Given the description of an element on the screen output the (x, y) to click on. 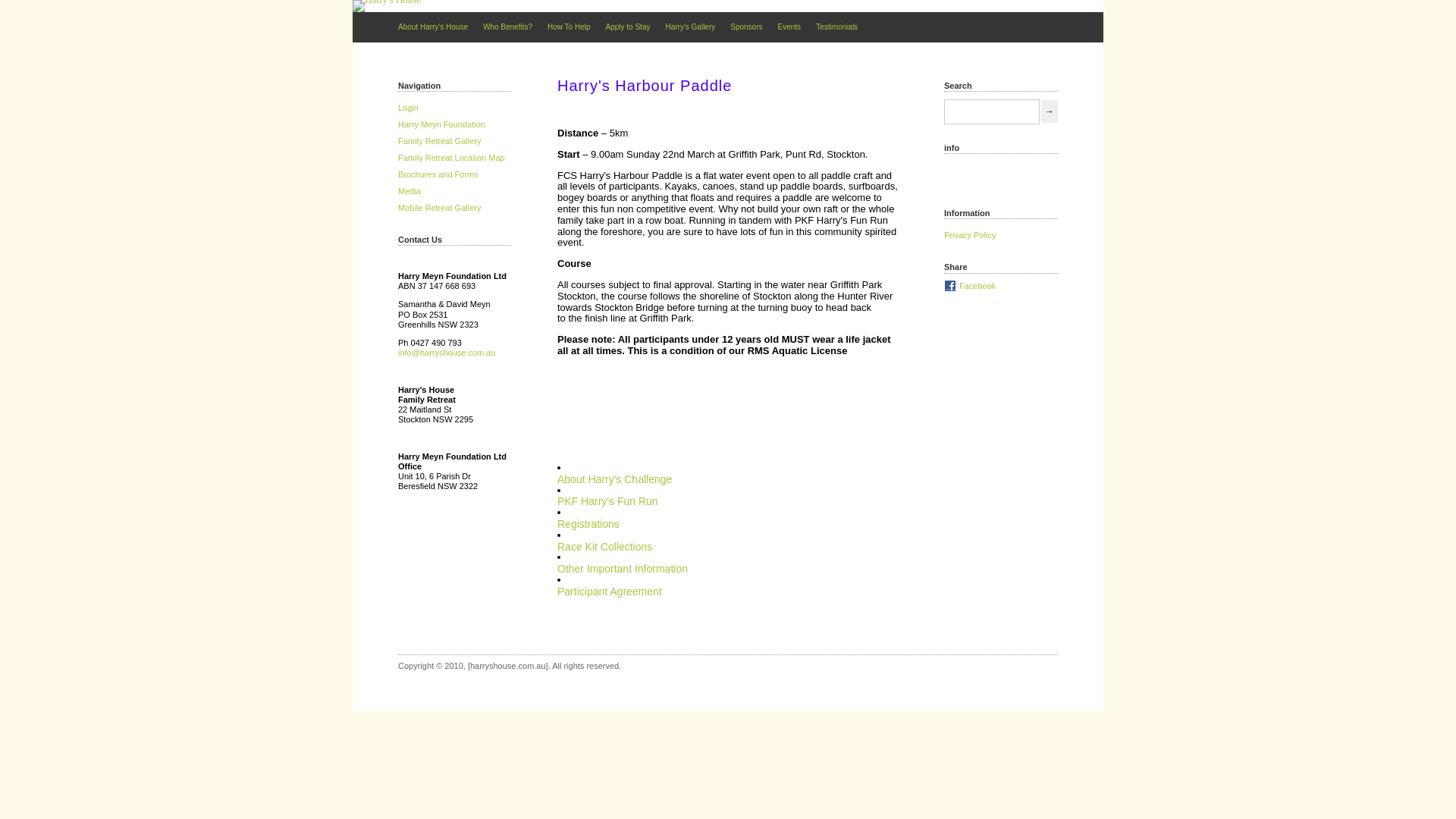
Facebook Element type: text (969, 285)
How To Help Element type: text (568, 28)
Participant Agreement Element type: text (609, 591)
PKF Harry's Fun Run Element type: text (607, 501)
Harry Meyn Foundation Element type: text (441, 123)
Race Kit Collections Element type: text (604, 546)
About Harry's House Element type: text (432, 28)
Registrations Element type: text (588, 523)
Login Element type: text (408, 107)
Who Benefits? Element type: text (507, 28)
Apply to Stay Element type: text (627, 28)
Family Retreat Location Map Element type: text (451, 157)
Privacy Policy Element type: text (969, 234)
Other Important Information Element type: text (622, 568)
Sponsors Element type: text (746, 28)
Brochures and Forms Element type: text (438, 173)
Family Retreat Gallery Element type: text (439, 140)
Media Element type: text (409, 190)
Harry's Gallery Element type: text (690, 28)
Mobile Retreat Gallery Element type: text (439, 207)
info@harryshouse.com.au Element type: text (446, 352)
About Harry's Challenge Element type: text (614, 479)
Testimonials Element type: text (836, 28)
Events Element type: text (789, 28)
Harry's House Element type: hover (386, 6)
